Given the description of an element on the screen output the (x, y) to click on. 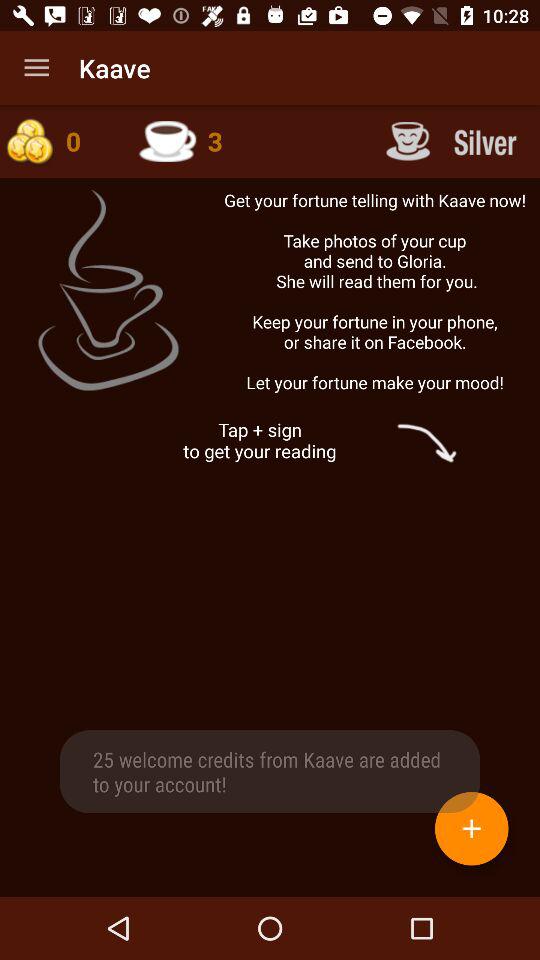
gold coins (59, 141)
